Given the description of an element on the screen output the (x, y) to click on. 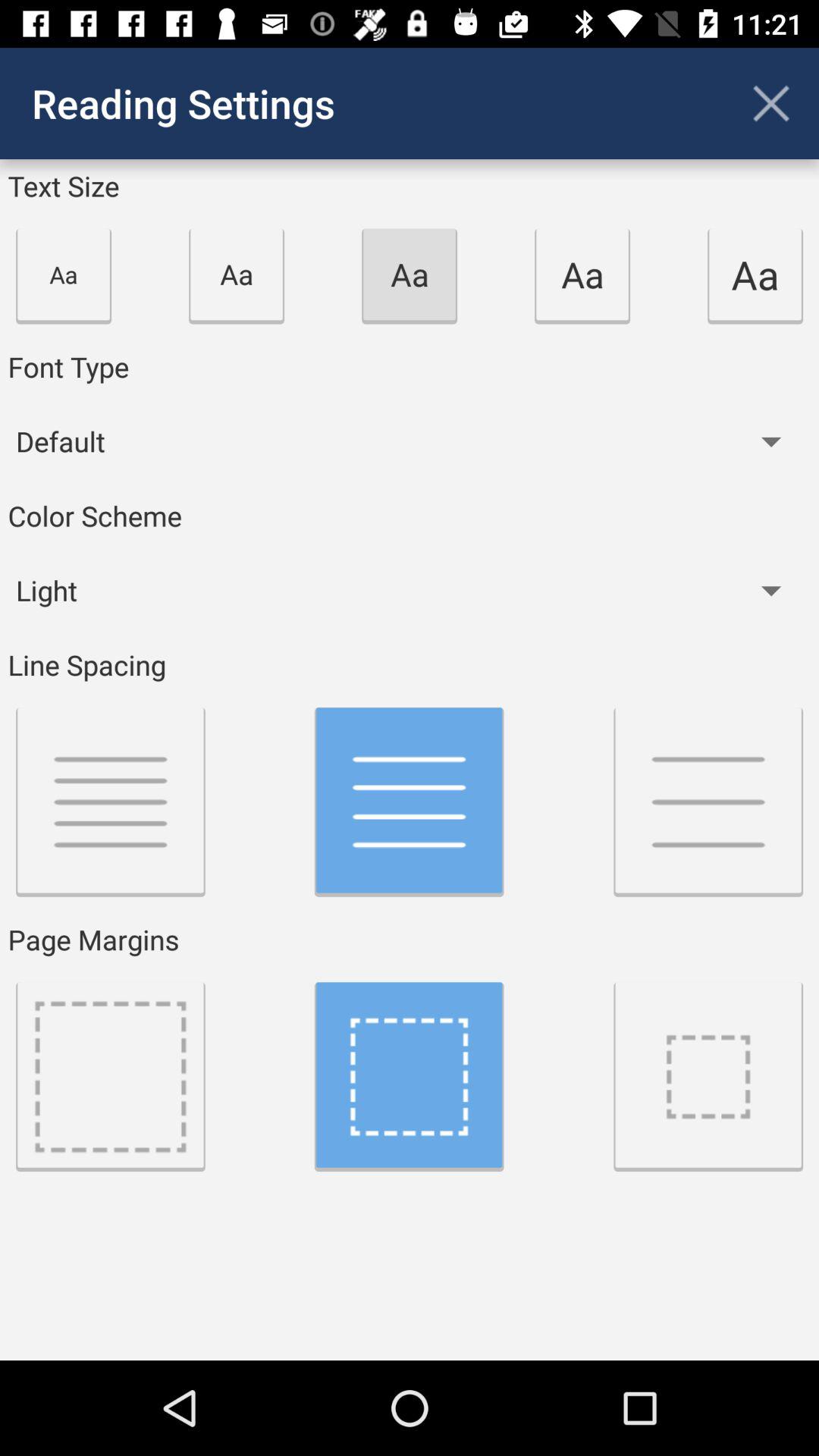
tap item above the text size item (771, 103)
